Given the description of an element on the screen output the (x, y) to click on. 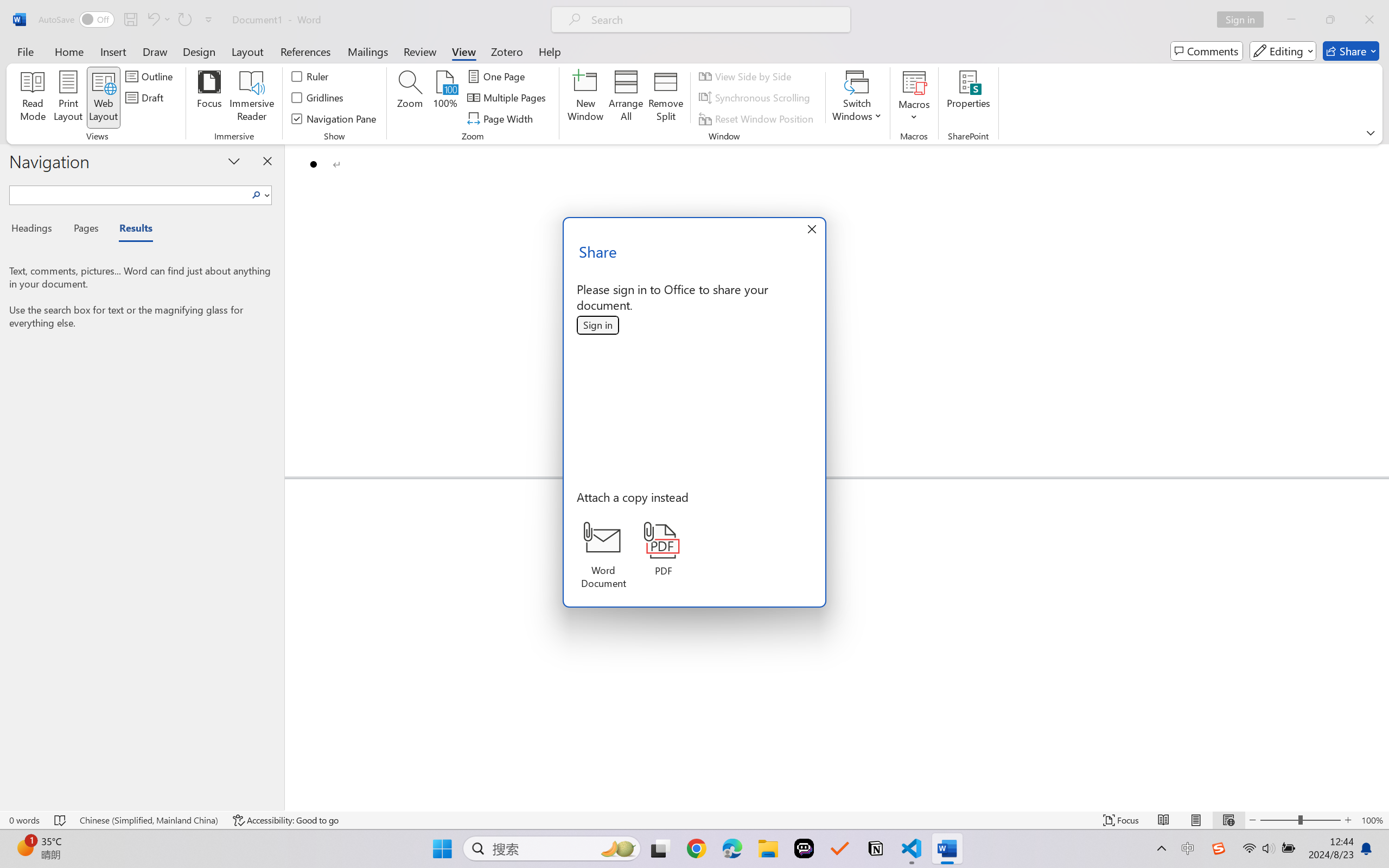
Page Width (501, 118)
Switch Windows (856, 97)
Outline (150, 75)
Properties (967, 97)
Zoom 100% (1372, 819)
Word Document (603, 555)
Microsoft Edge (731, 848)
Results (130, 229)
